Given the description of an element on the screen output the (x, y) to click on. 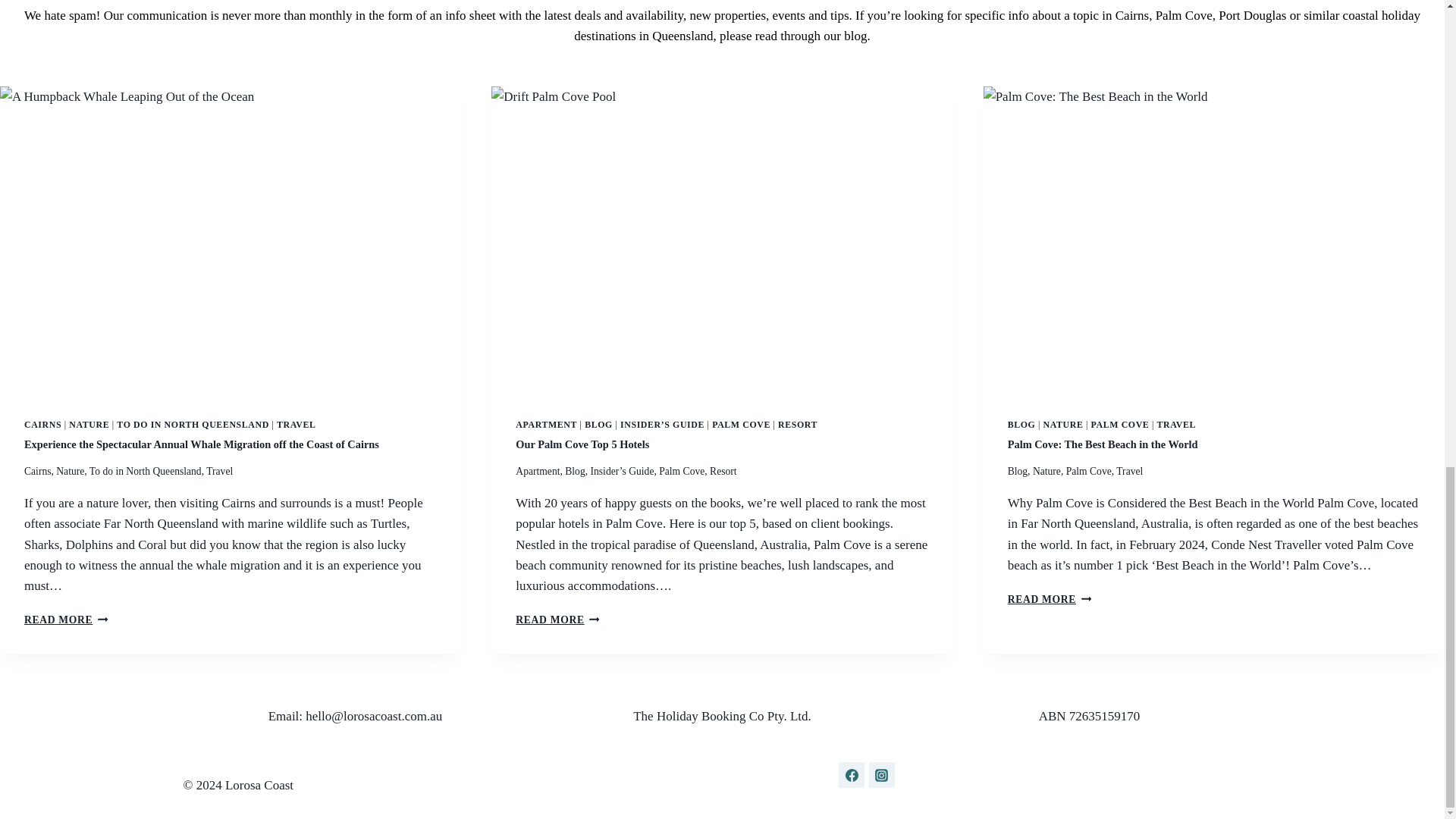
Palm Cove (681, 471)
Nature (70, 471)
To do in North Queensland (145, 471)
Our Palm Cove Top 5 Hotels (582, 444)
Cairns (37, 471)
Resort (723, 471)
PALM COVE (740, 424)
RESORT (796, 424)
CAIRNS (42, 424)
NATURE (88, 424)
